Given the description of an element on the screen output the (x, y) to click on. 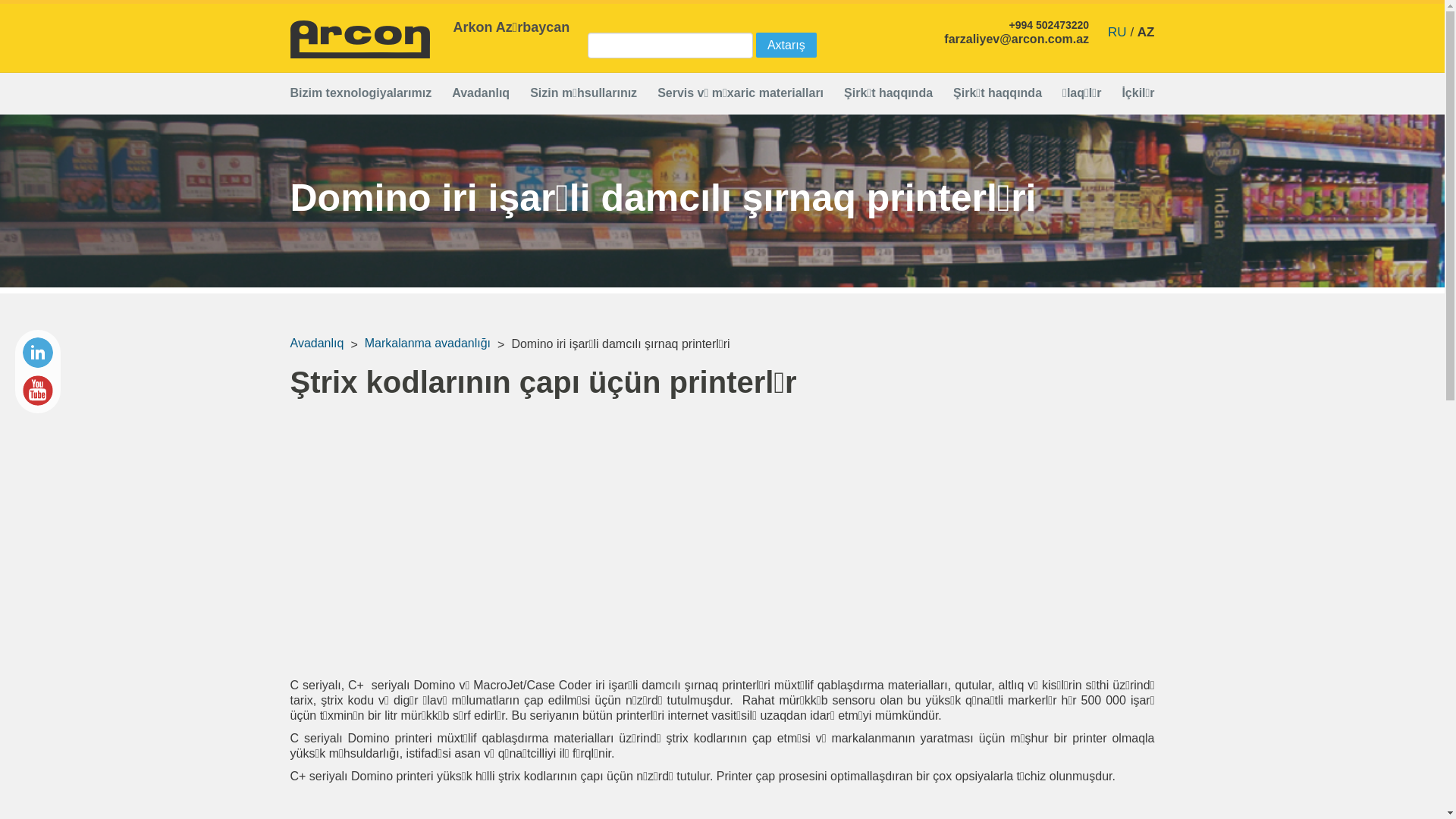
RU Element type: text (1116, 32)
Youtube Element type: text (37, 390)
farzaliyev@arcon.com.az Element type: text (1016, 38)
Arcon Element type: hover (359, 39)
Linkedin Element type: text (37, 352)
